Given the description of an element on the screen output the (x, y) to click on. 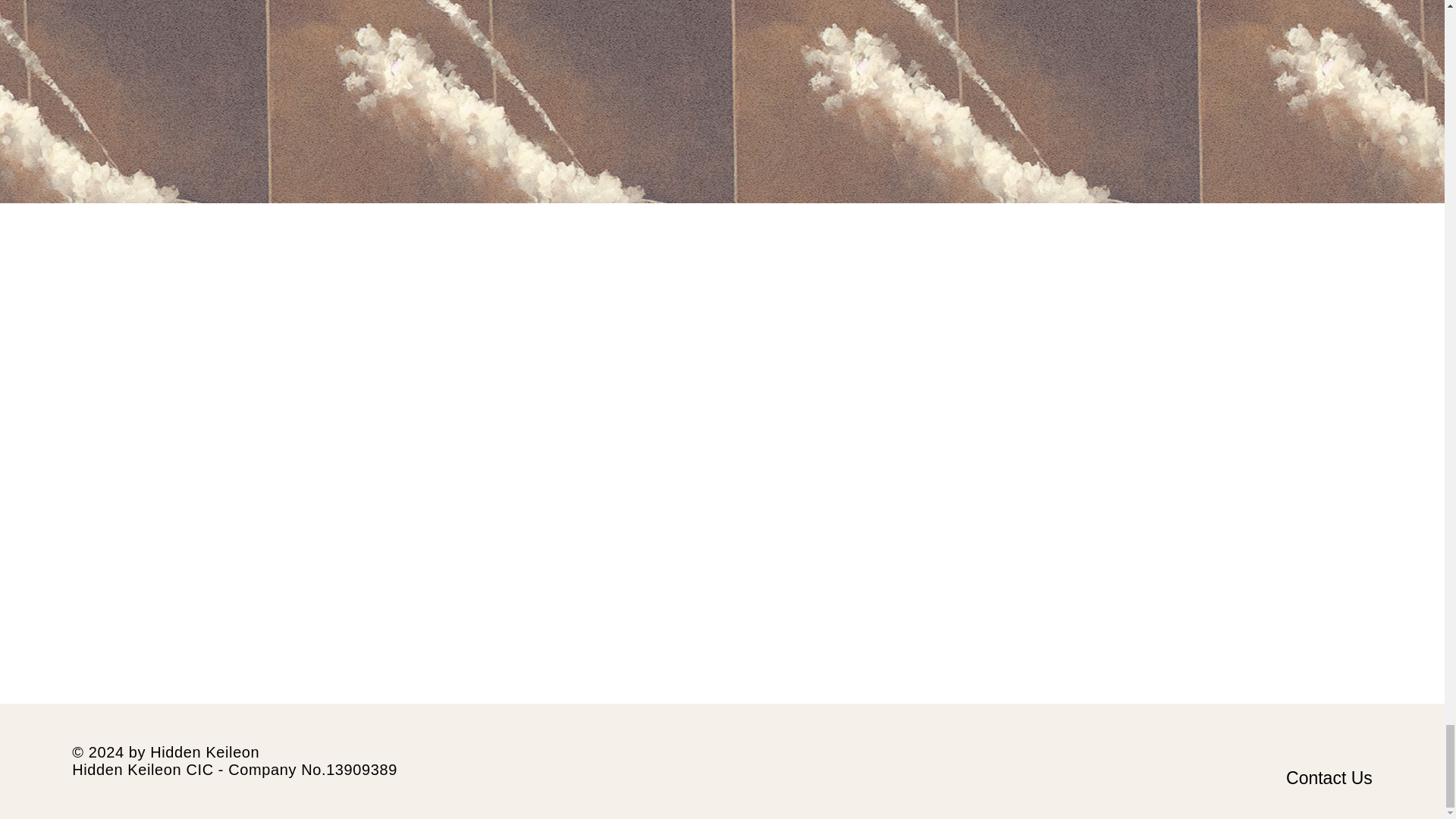
Contact Us (1329, 777)
